Given the description of an element on the screen output the (x, y) to click on. 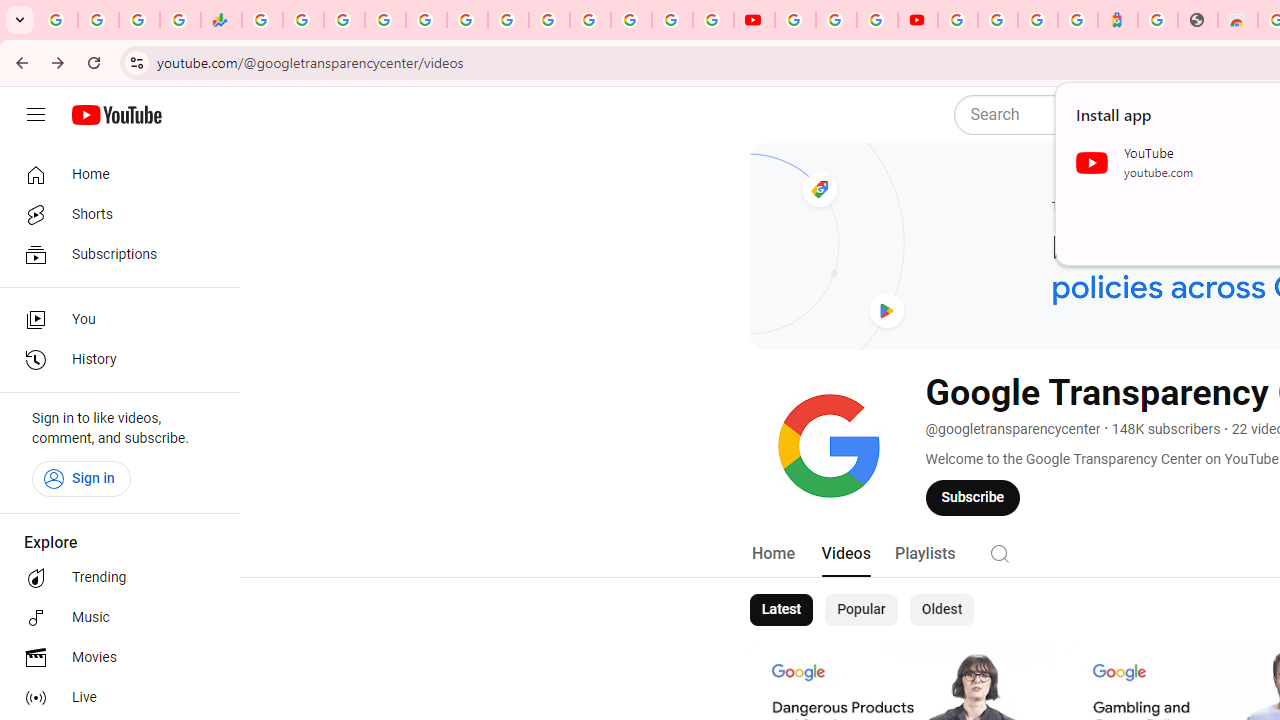
Home (113, 174)
Home (772, 553)
Google Account Help (836, 20)
Playlists (924, 553)
Popular (861, 609)
History (113, 359)
Chrome Web Store - Household (1238, 20)
